Given the description of an element on the screen output the (x, y) to click on. 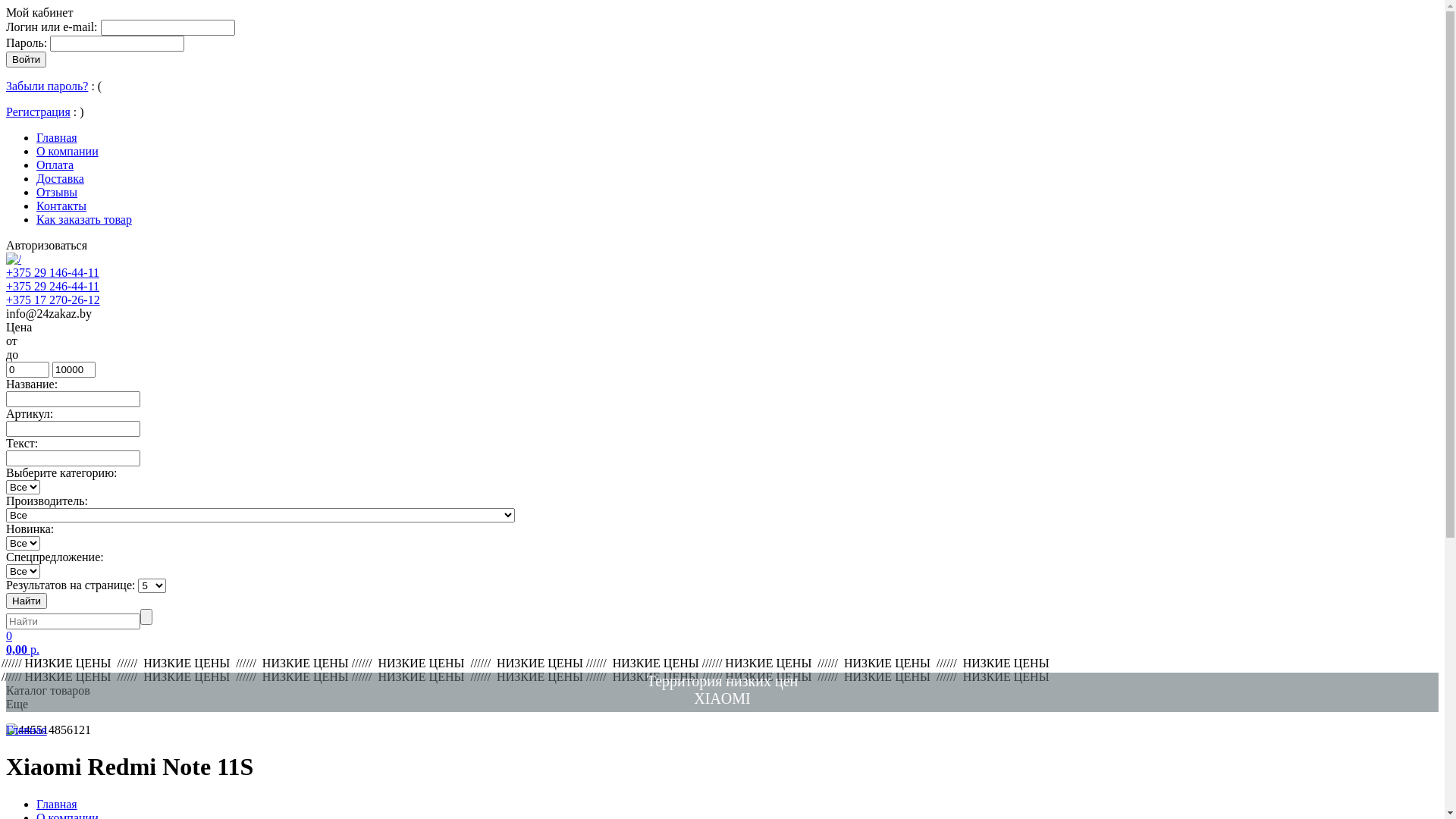
+375 29 146-44-11 Element type: text (52, 272)
+375 29 246-44-11 Element type: text (52, 285)
+375 17 270-26-12 Element type: text (53, 299)
